Given the description of an element on the screen output the (x, y) to click on. 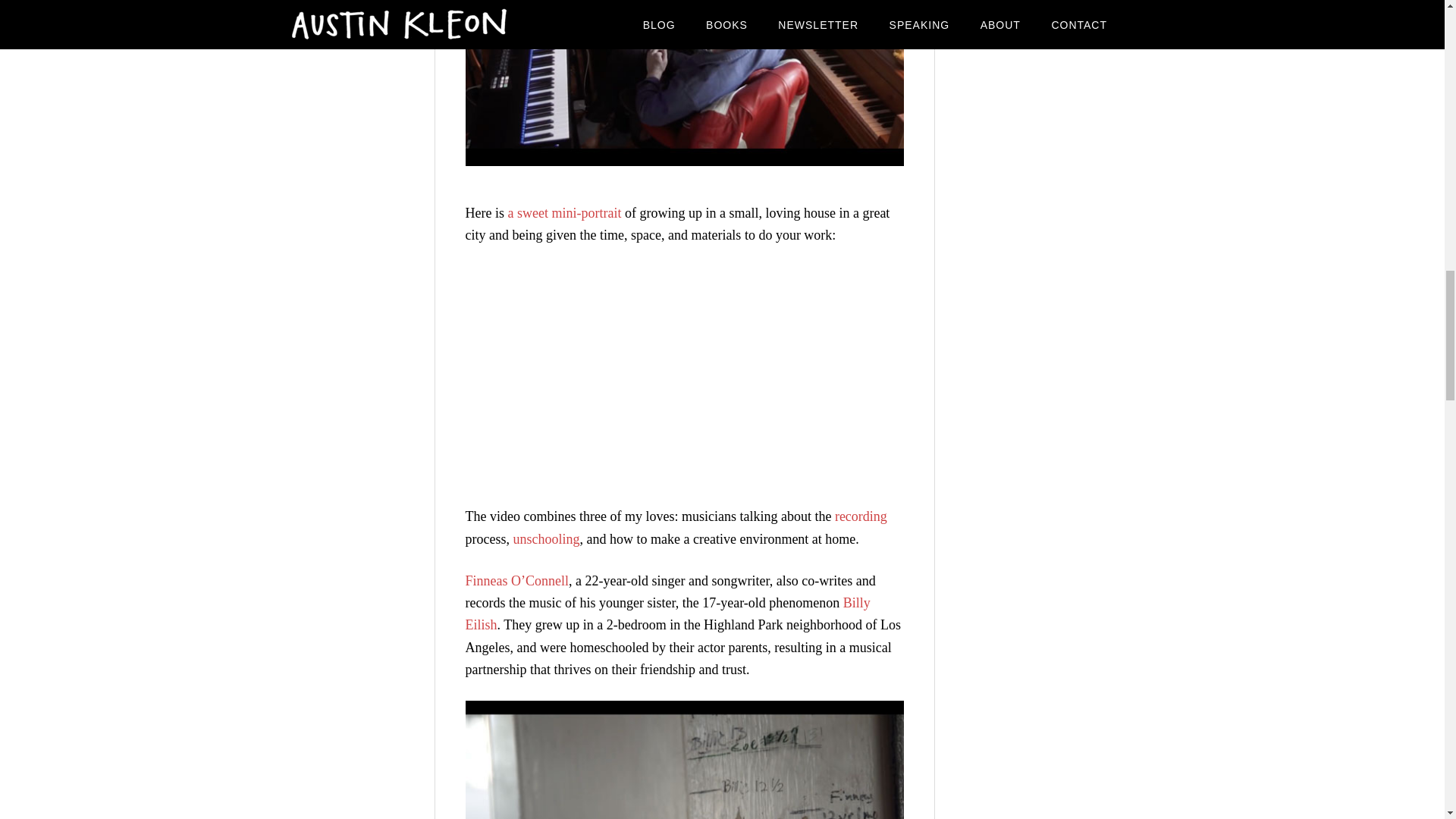
Billy Eilish (667, 613)
recording (860, 516)
unschooling (545, 539)
a sweet mini-portrait (563, 212)
